Given the description of an element on the screen output the (x, y) to click on. 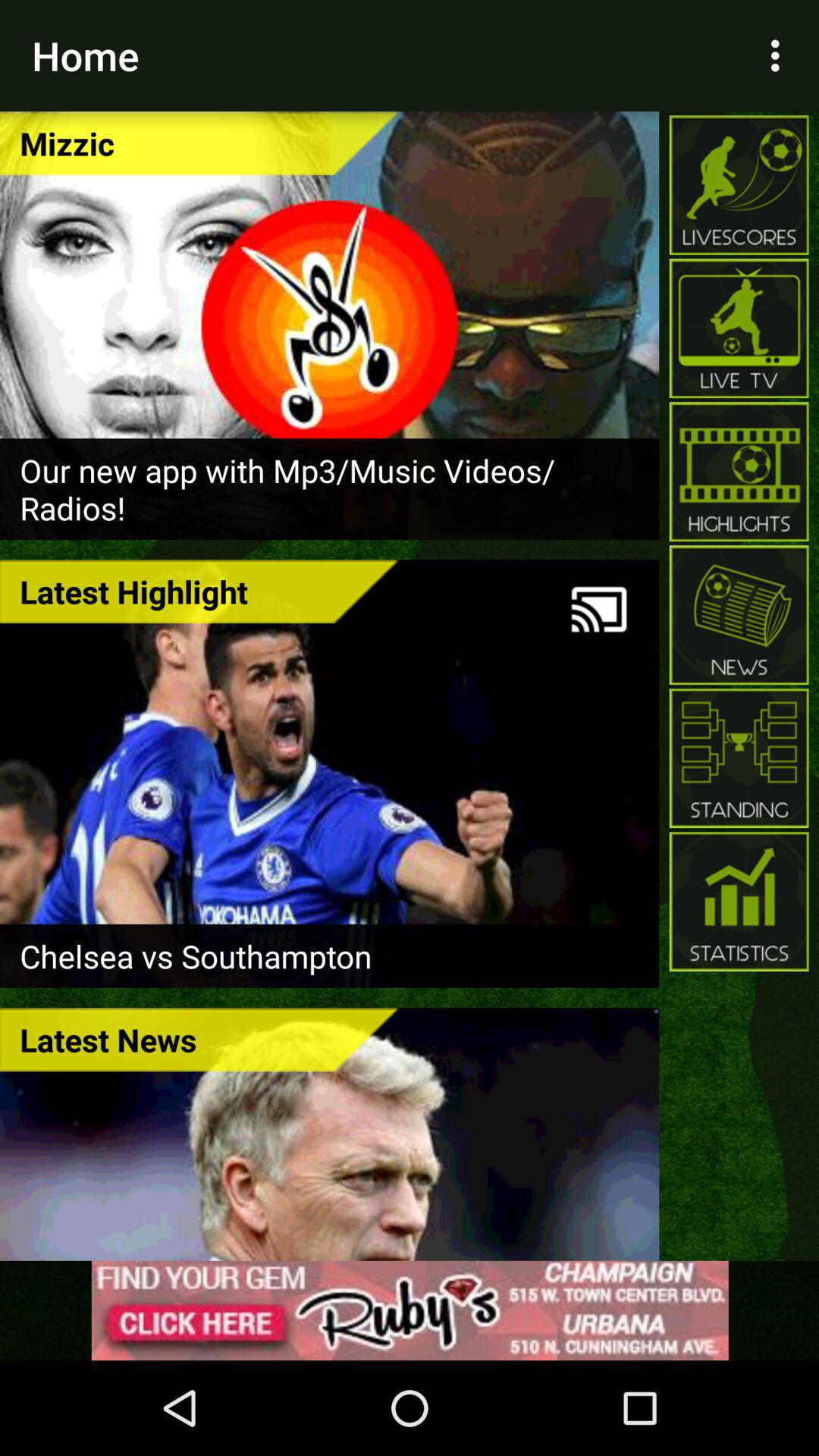
share to tv (599, 609)
